Given the description of an element on the screen output the (x, y) to click on. 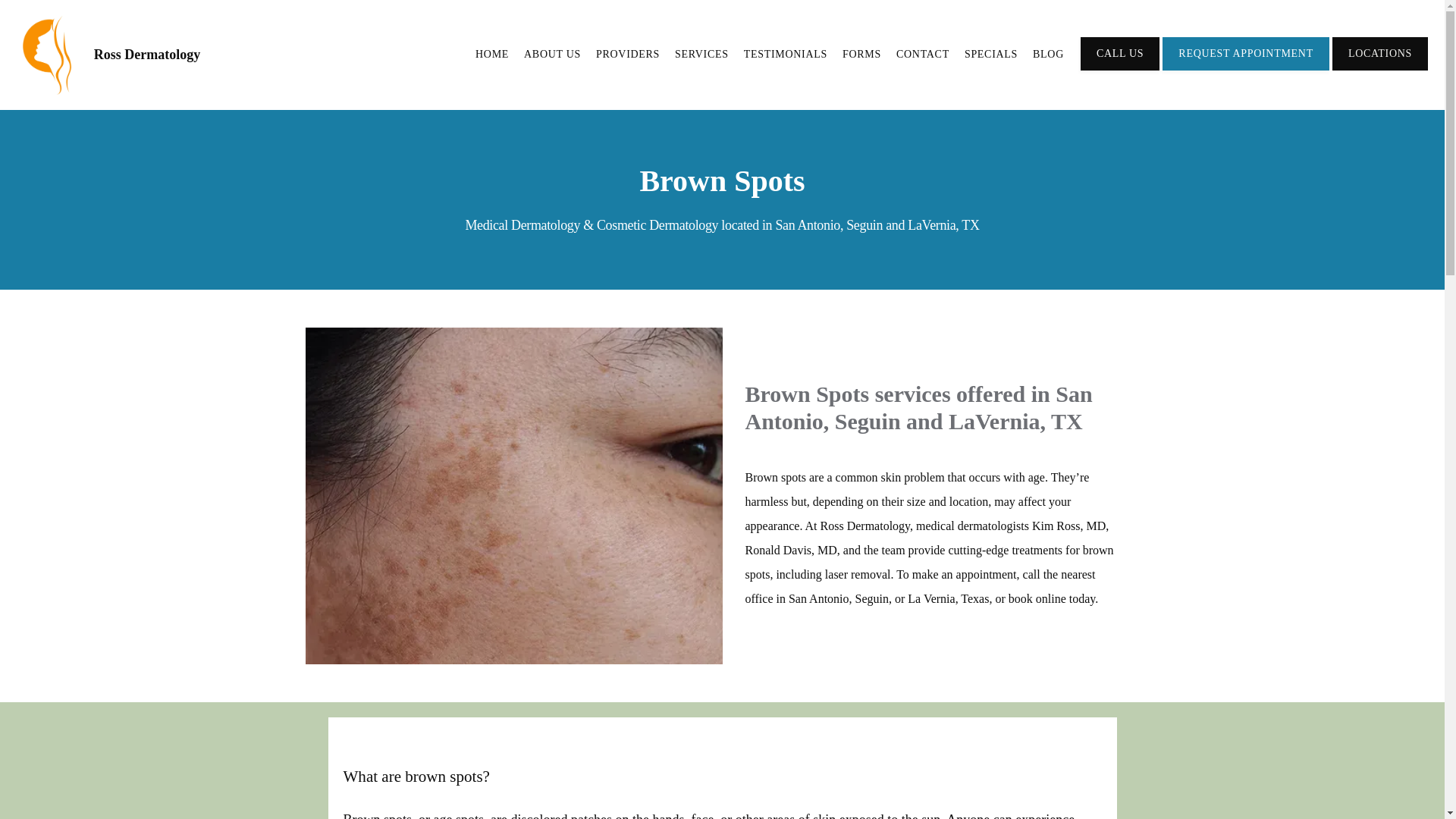
FORMS (861, 53)
HOME (492, 53)
BLOG (1048, 53)
REQUEST APPOINTMENT (1245, 68)
SERVICES (702, 53)
LOCATIONS (1379, 68)
SPECIALS (990, 53)
CONTACT (922, 53)
PROVIDERS (627, 53)
CALL US (1119, 68)
TESTIMONIALS (785, 53)
ABOUT US (552, 53)
